Given the description of an element on the screen output the (x, y) to click on. 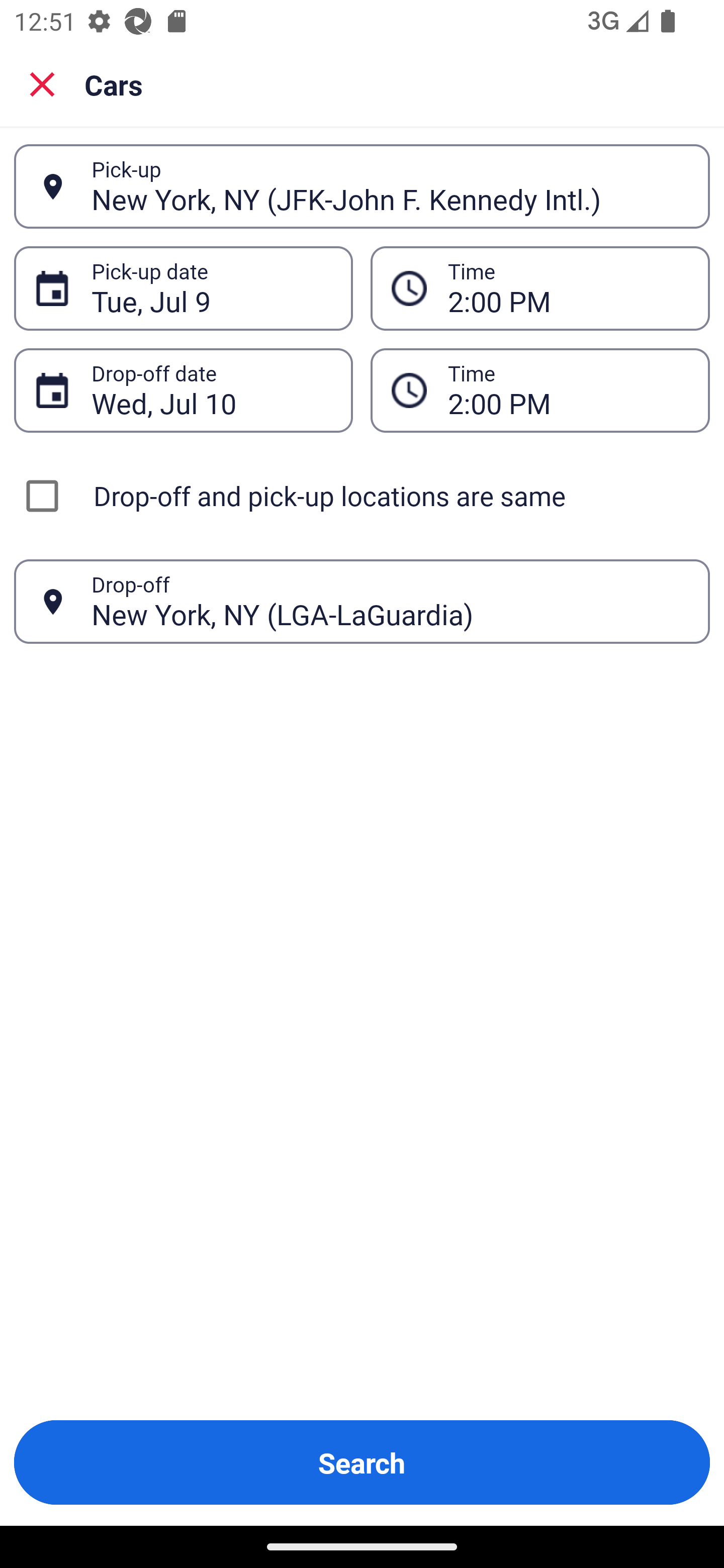
Close search screen (42, 84)
New York, NY (JFK-John F. Kennedy Intl.) (389, 186)
Tue, Jul 9 (211, 288)
2:00 PM (568, 288)
Wed, Jul 10 (211, 390)
2:00 PM (568, 390)
Drop-off and pick-up locations are same (361, 495)
New York, NY (LGA-LaGuardia) (389, 601)
Search Button Search (361, 1462)
